Given the description of an element on the screen output the (x, y) to click on. 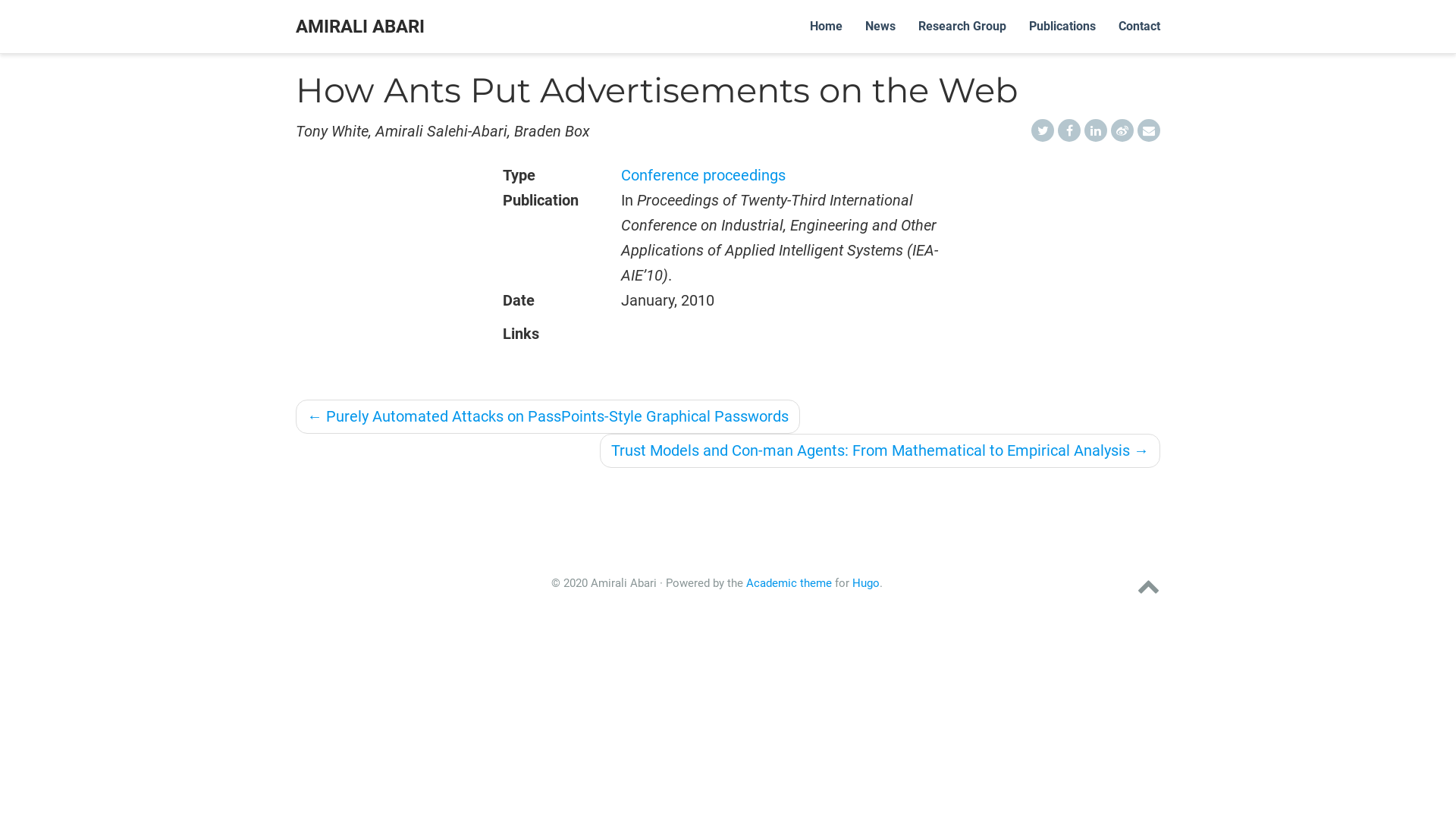
Research Group Element type: text (961, 26)
Contact Element type: text (1139, 26)
Hugo Element type: text (865, 582)
Academic theme Element type: text (788, 582)
AMIRALI ABARI Element type: text (360, 26)
Conference proceedings Element type: text (703, 175)
News Element type: text (879, 26)
Publications Element type: text (1062, 26)
Home Element type: text (825, 26)
